Given the description of an element on the screen output the (x, y) to click on. 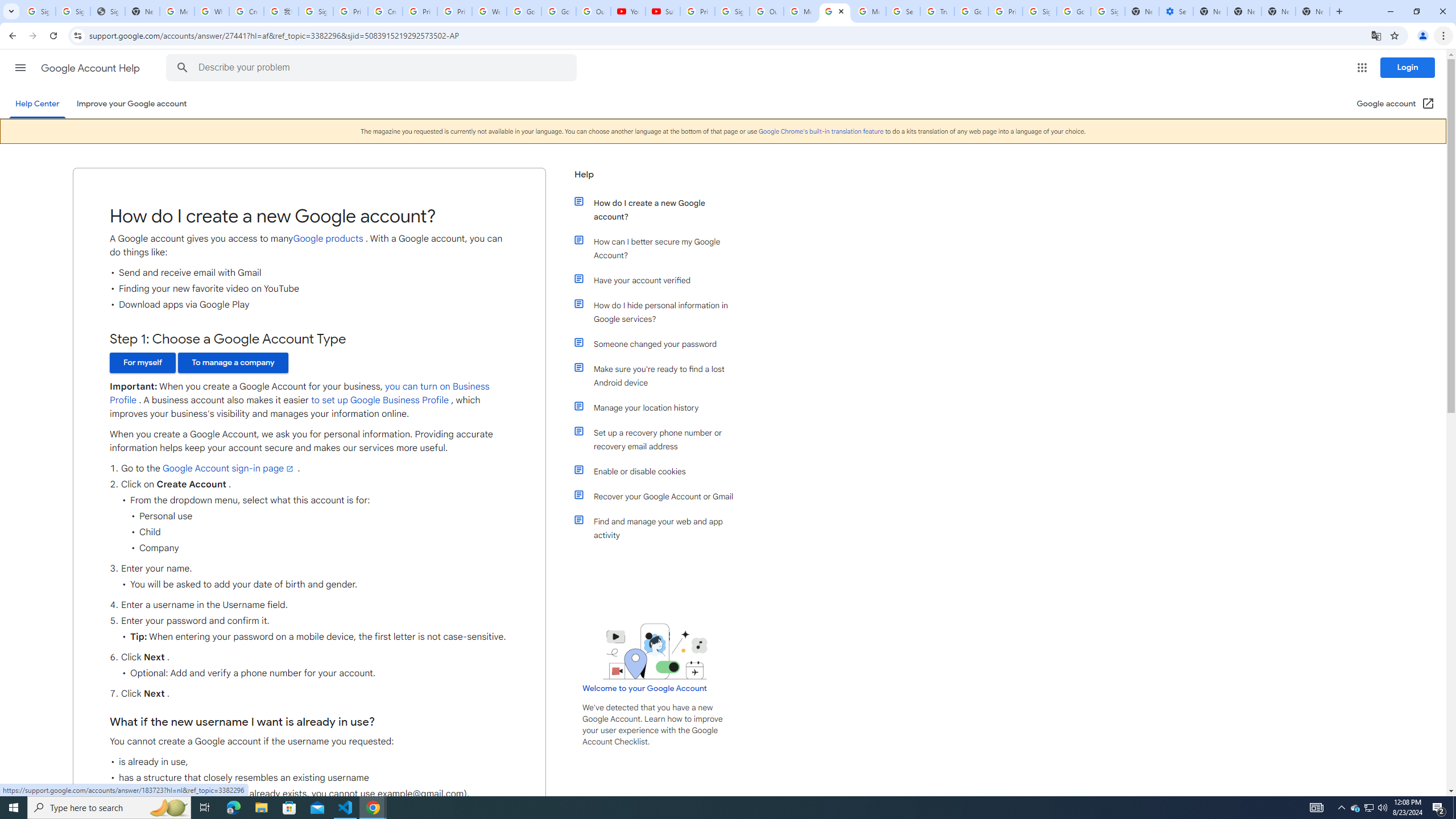
Translate this page (1376, 35)
Google Cybersecurity Innovations - Google Safety Center (1073, 11)
Have your account verified (661, 280)
Create your Google Account (384, 11)
Main menu (20, 67)
you can turn on Business Profile (299, 393)
How do I create a new Google account? (661, 209)
Create your Google Account (246, 11)
Google products (328, 238)
Login (1407, 67)
Search the Help Center (181, 67)
New Tab (1209, 11)
